Given the description of an element on the screen output the (x, y) to click on. 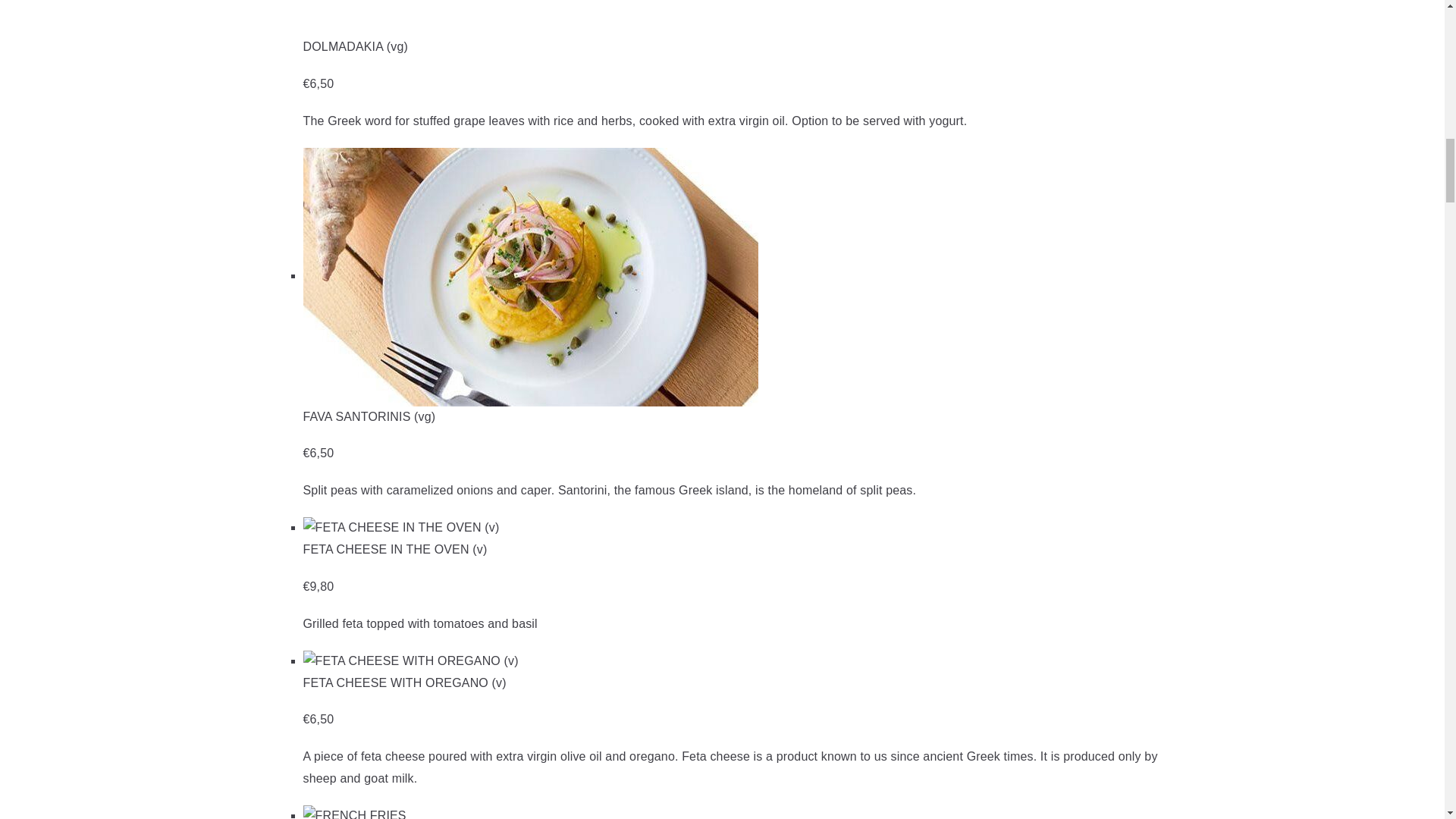
FRENCH FRIES (354, 812)
